Given the description of an element on the screen output the (x, y) to click on. 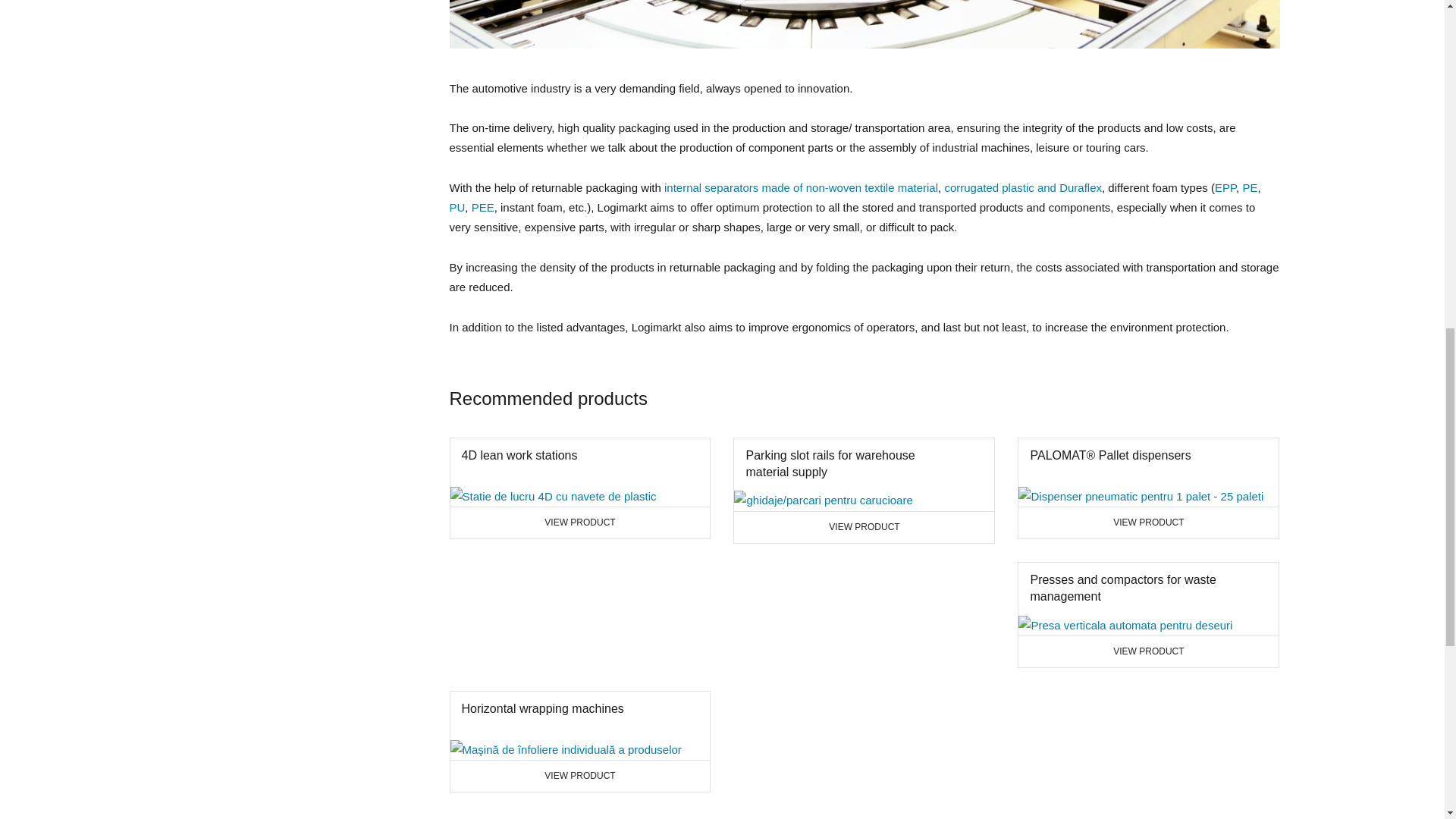
PEE (483, 206)
Statie de lucru 4D cu navete de plastic (1148, 614)
internal separators made of non-woven textile material (552, 496)
corrugated plastic and Duraflex (800, 187)
PU (1022, 187)
Ghidaje pentru carucioare (456, 206)
Presa verticala automata pentru deseuri (579, 741)
EPP (822, 500)
PE (1124, 625)
